Given the description of an element on the screen output the (x, y) to click on. 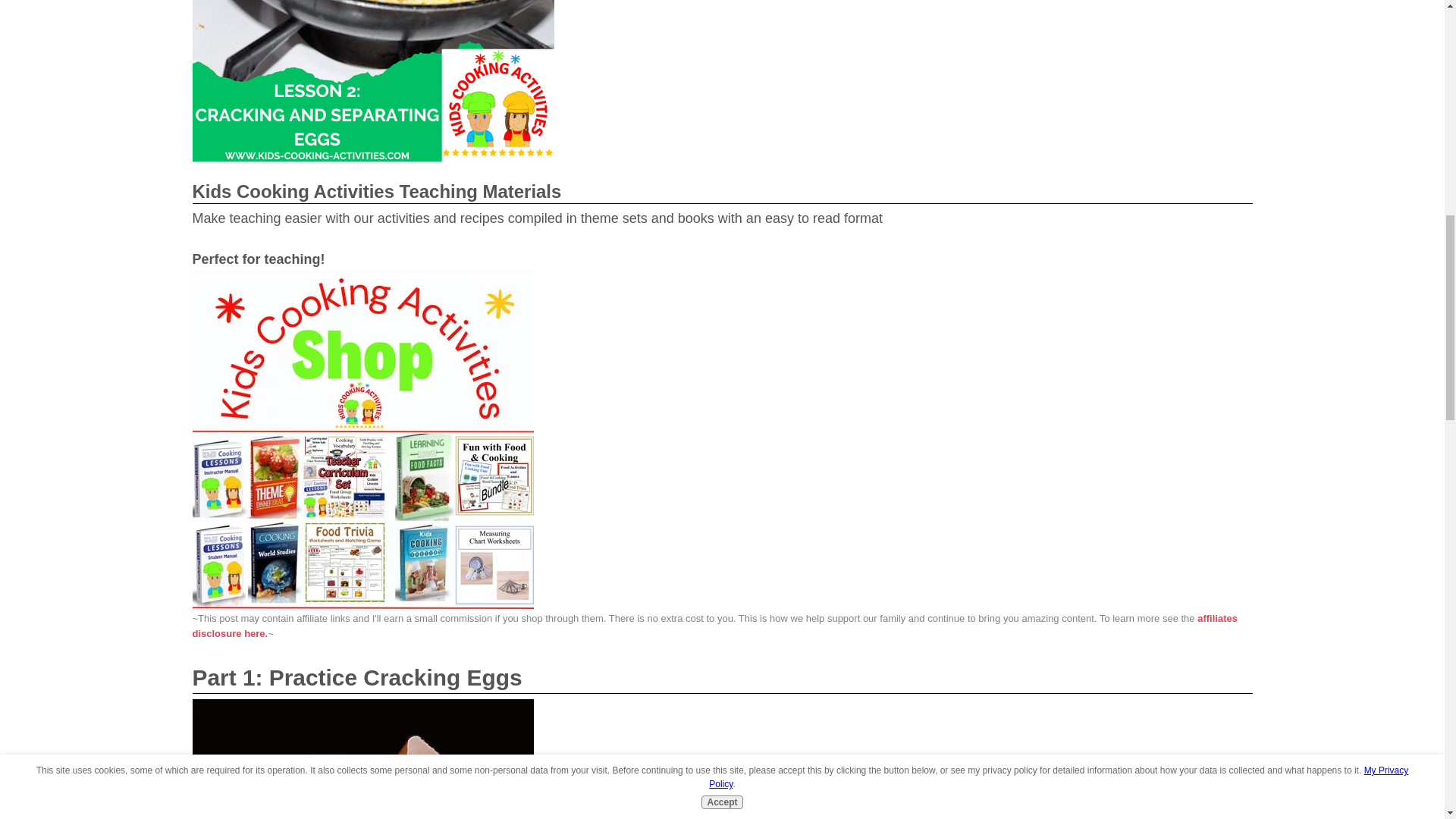
affiliates disclosure here. (714, 625)
